Given the description of an element on the screen output the (x, y) to click on. 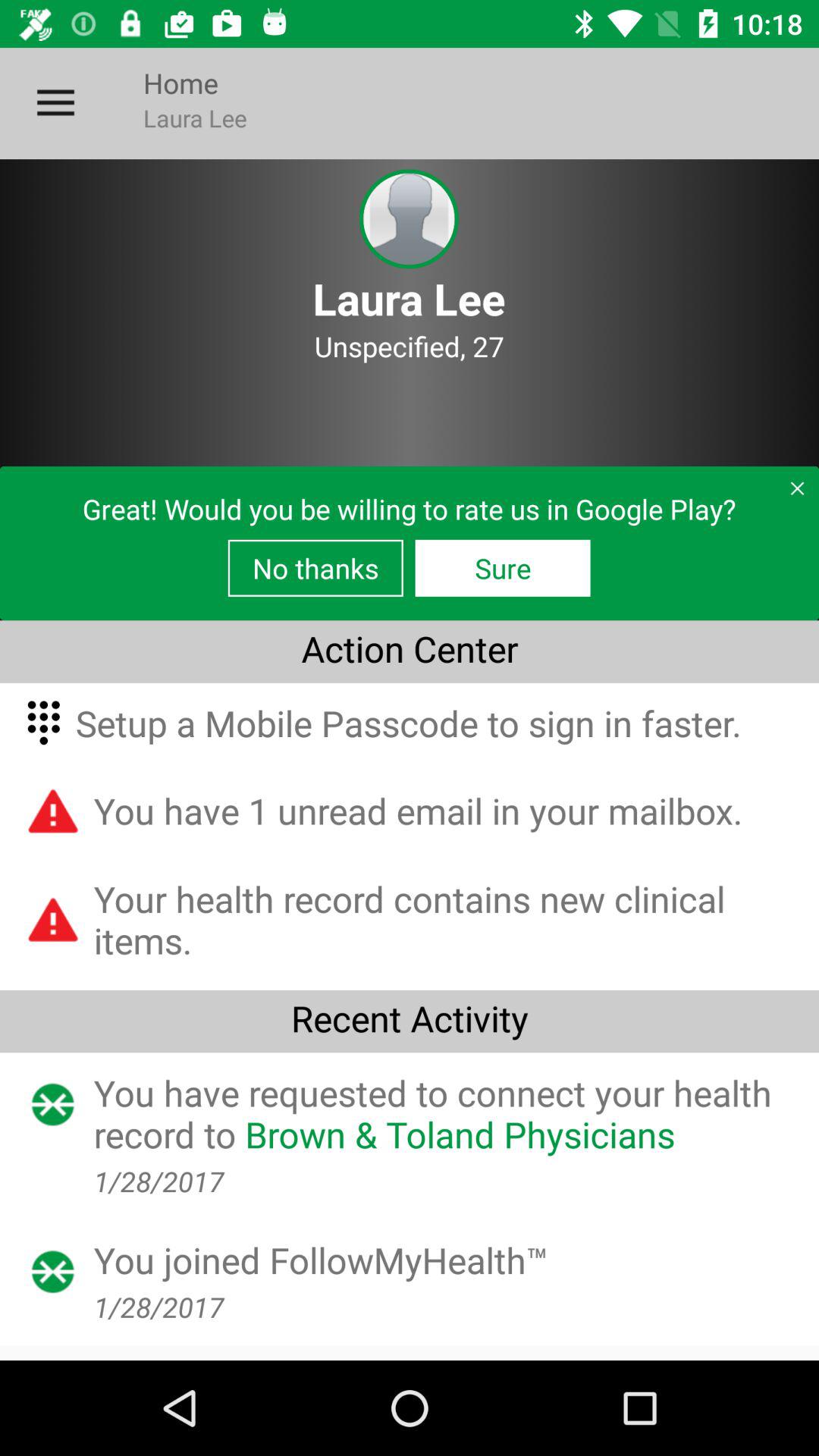
click on the profile icon of laura lee (408, 219)
click on the wrong option to the right of the text great would you be willing to rate us in google play (790, 495)
select the first icon above the recent activity button (54, 920)
select the first icon which is under the text action center (45, 722)
